Given the description of an element on the screen output the (x, y) to click on. 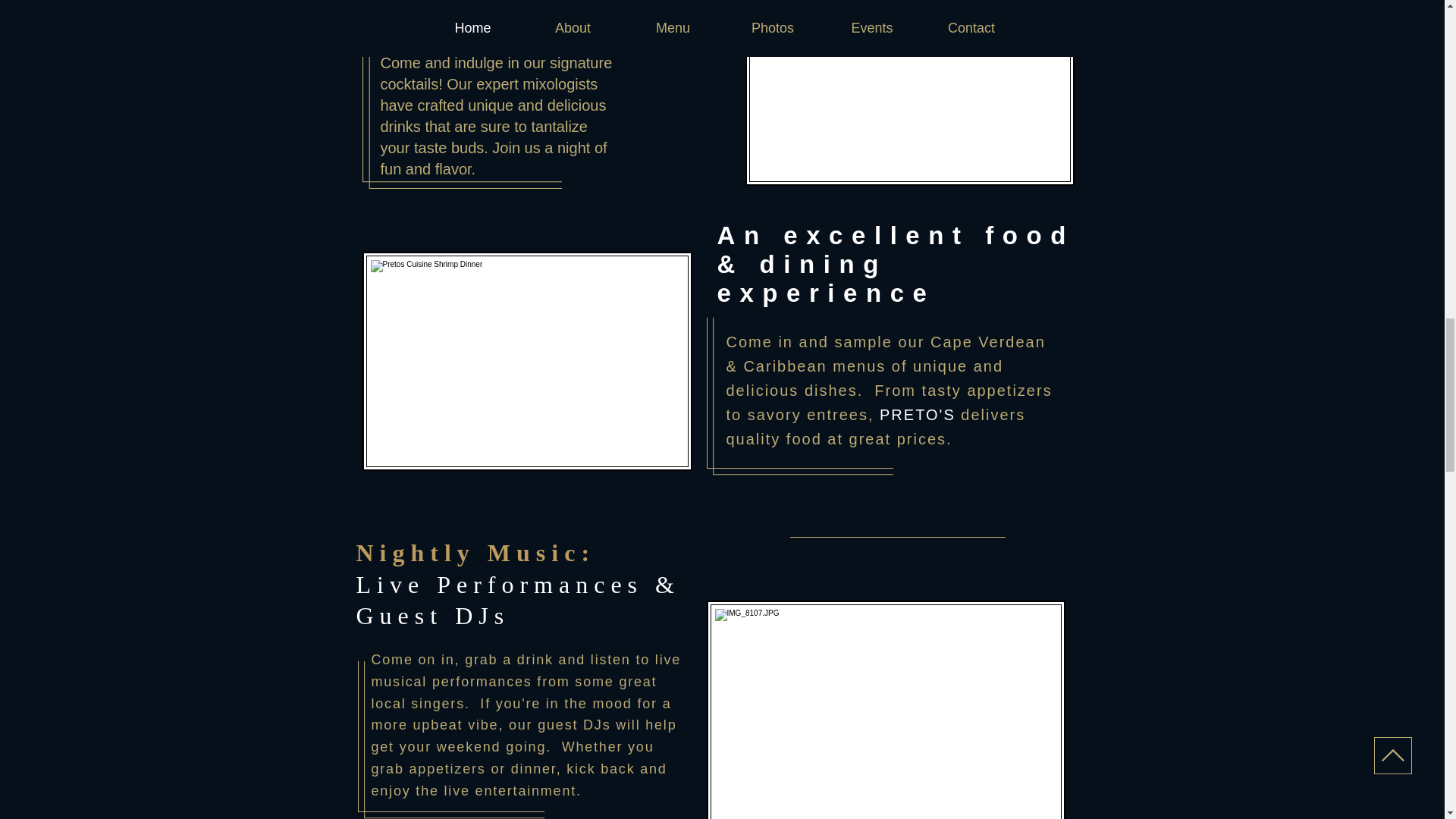
Nightly Music (468, 552)
